Given the description of an element on the screen output the (x, y) to click on. 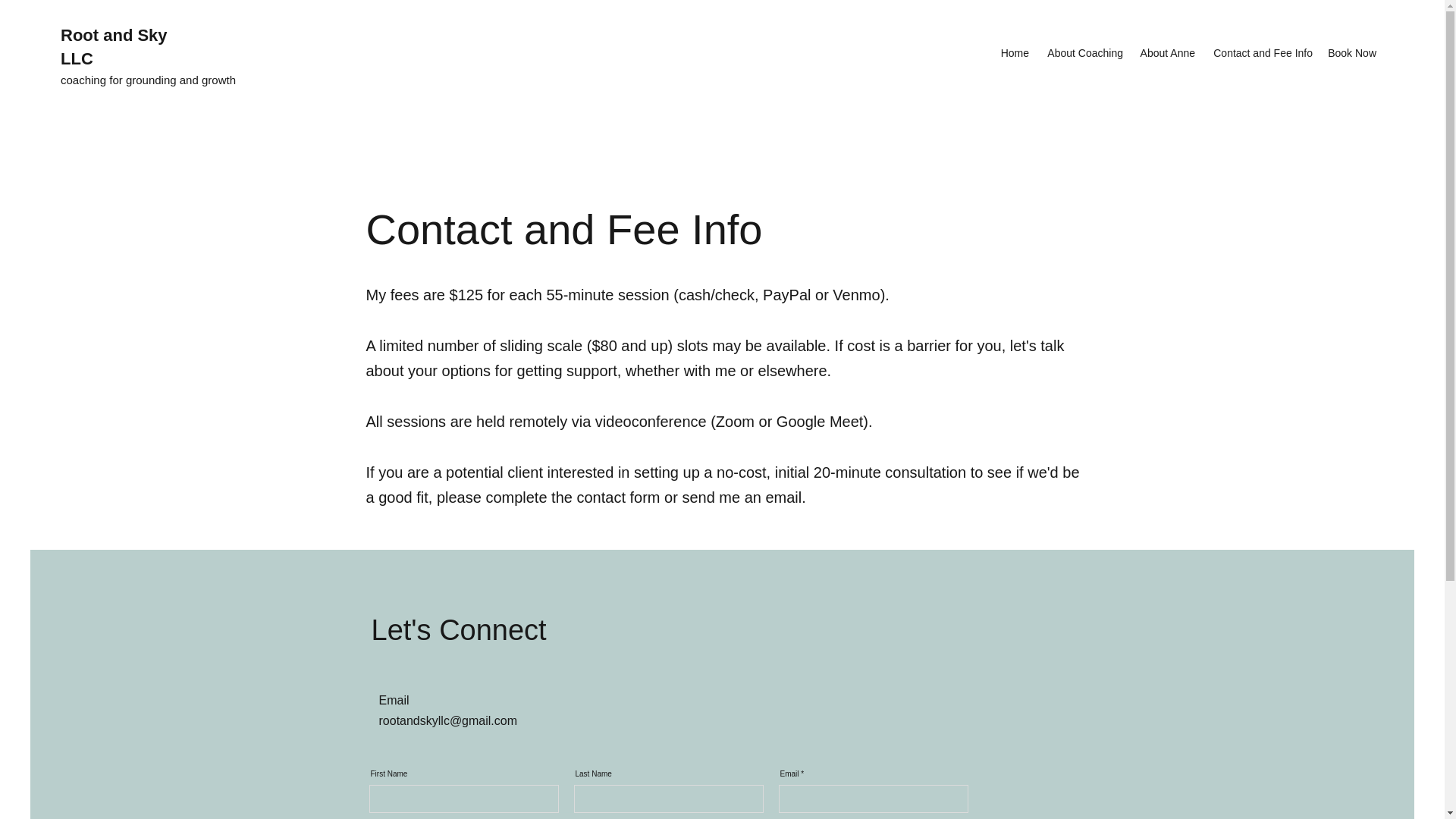
Book Now (1352, 53)
About Coaching (1083, 53)
Home (1014, 53)
Contact and Fee Info (1261, 53)
About Anne (1166, 53)
